Given the description of an element on the screen output the (x, y) to click on. 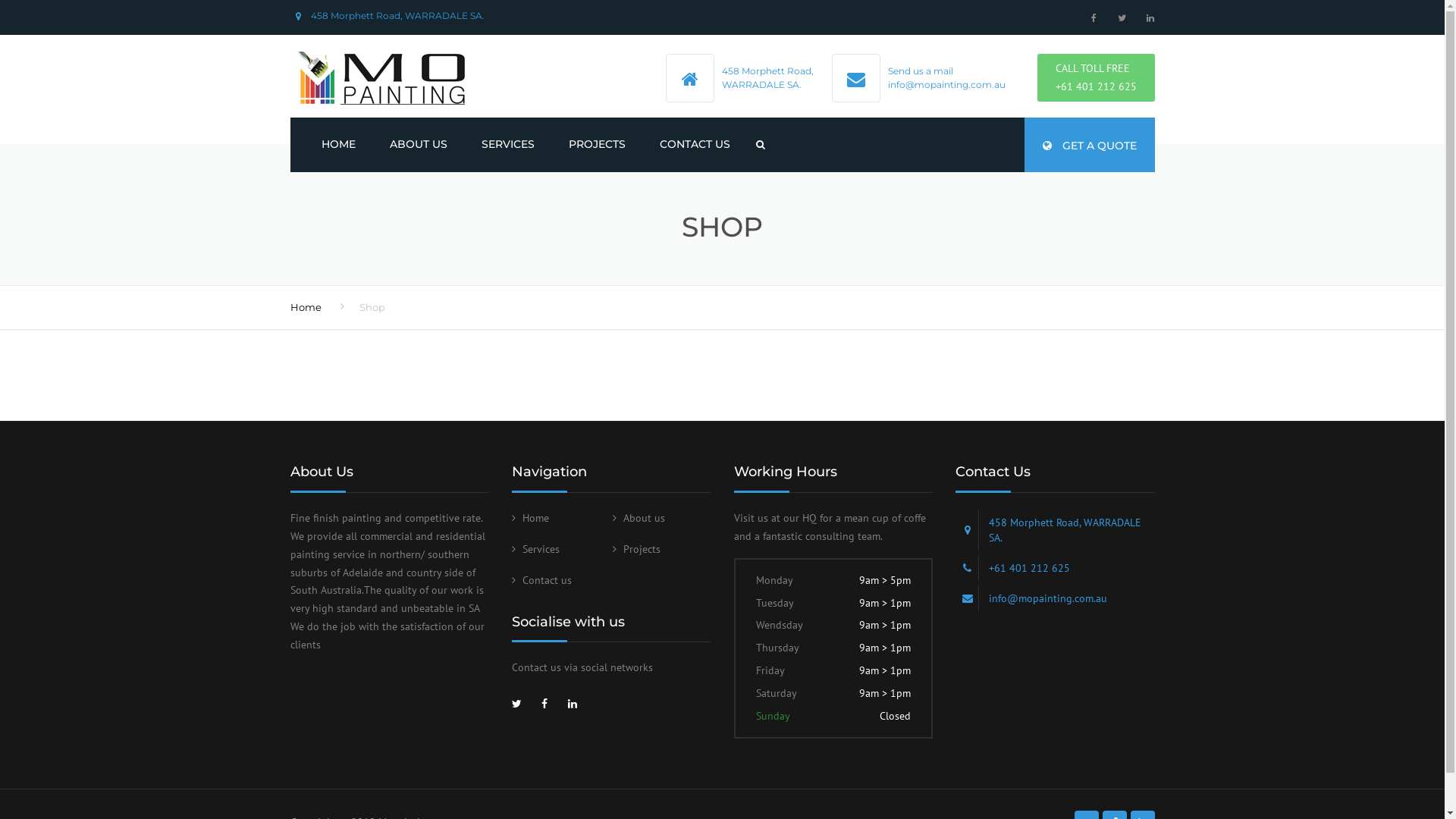
Contact us Element type: text (541, 579)
Services Element type: text (535, 548)
GET A QUOTE Element type: text (1088, 144)
CONTACT US Element type: text (694, 144)
PROJECTS Element type: text (596, 144)
Projects Element type: text (636, 548)
+61 401 212 625 Element type: text (1095, 85)
Home Element type: text (530, 517)
HOME Element type: text (337, 144)
SERVICES Element type: text (507, 144)
ABOUT US Element type: text (417, 144)
Home Element type: text (304, 307)
About us Element type: text (638, 517)
